Given the description of an element on the screen output the (x, y) to click on. 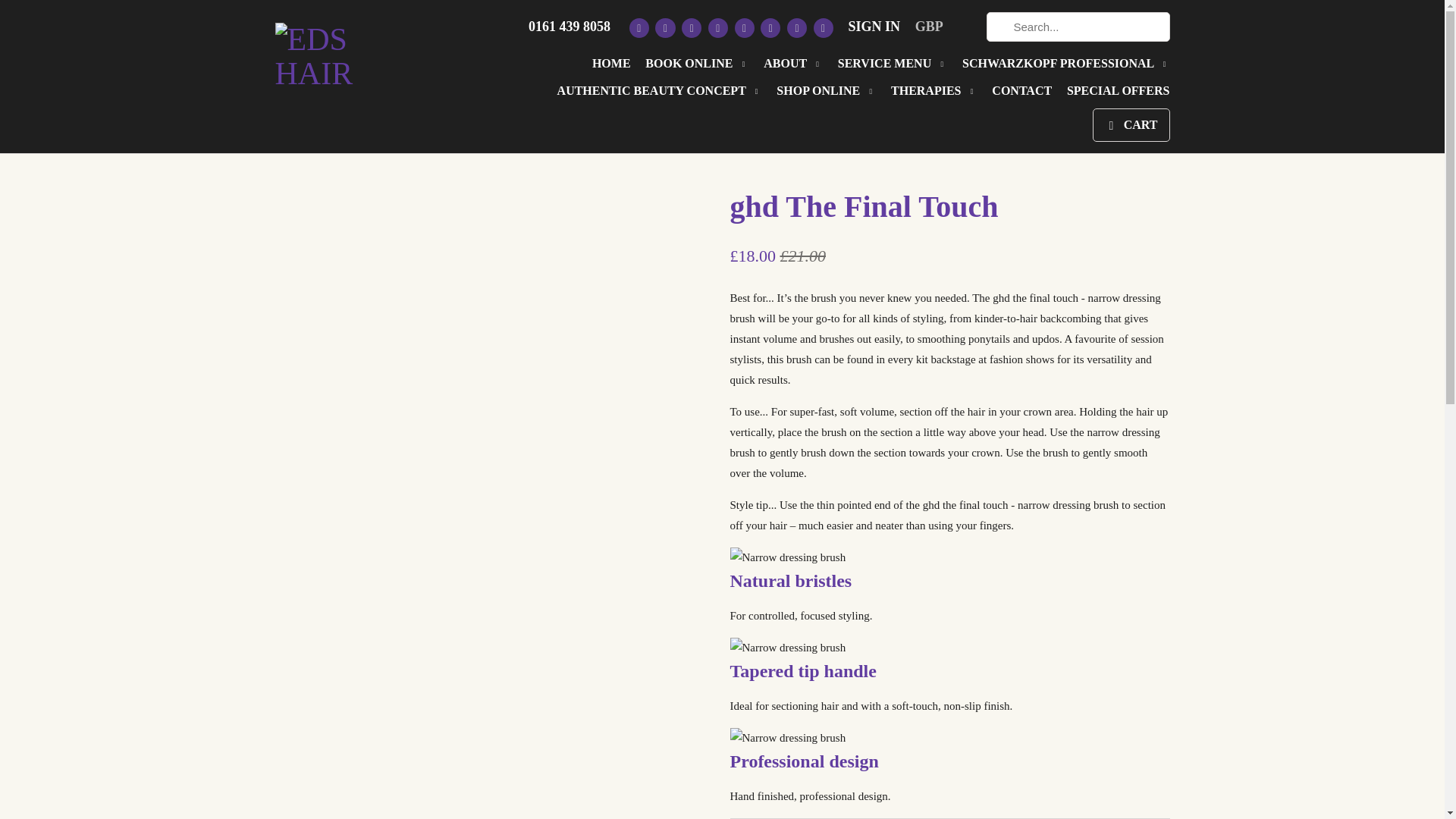
HOME (611, 67)
Cart (1131, 124)
Eds Hair on Instagram (796, 27)
0161 439 8058 (569, 30)
Eds Hair on Pinterest (744, 27)
Eds Hair on YouTube (717, 27)
Eds Hair on Facebook (665, 27)
Email Eds Hair (822, 27)
BOOK ONLINE (696, 68)
Eds Hair (342, 50)
